Given the description of an element on the screen output the (x, y) to click on. 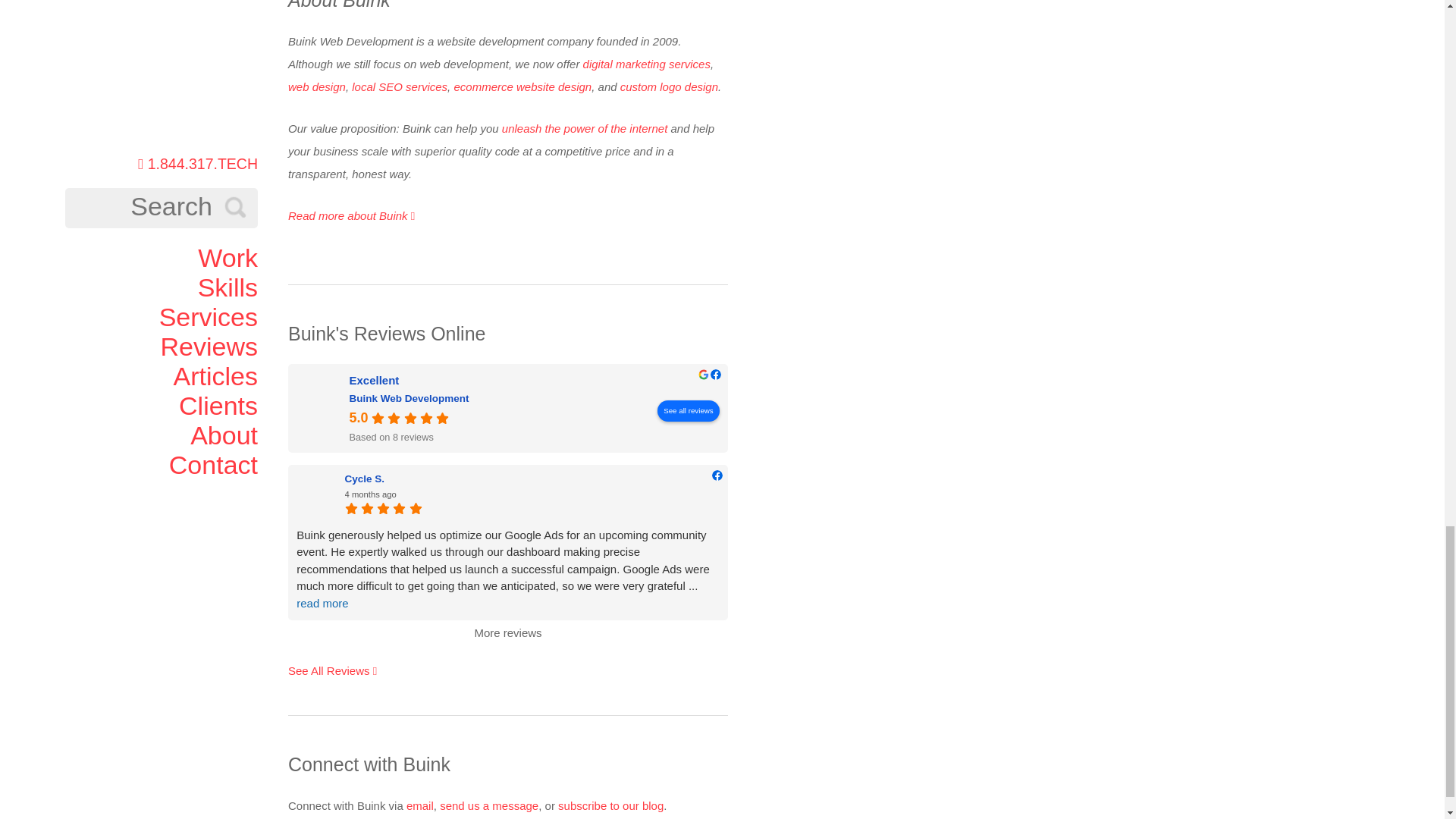
Cycle S. (531, 479)
Cycle S. (316, 494)
Buink Web Development (320, 407)
